Given the description of an element on the screen output the (x, y) to click on. 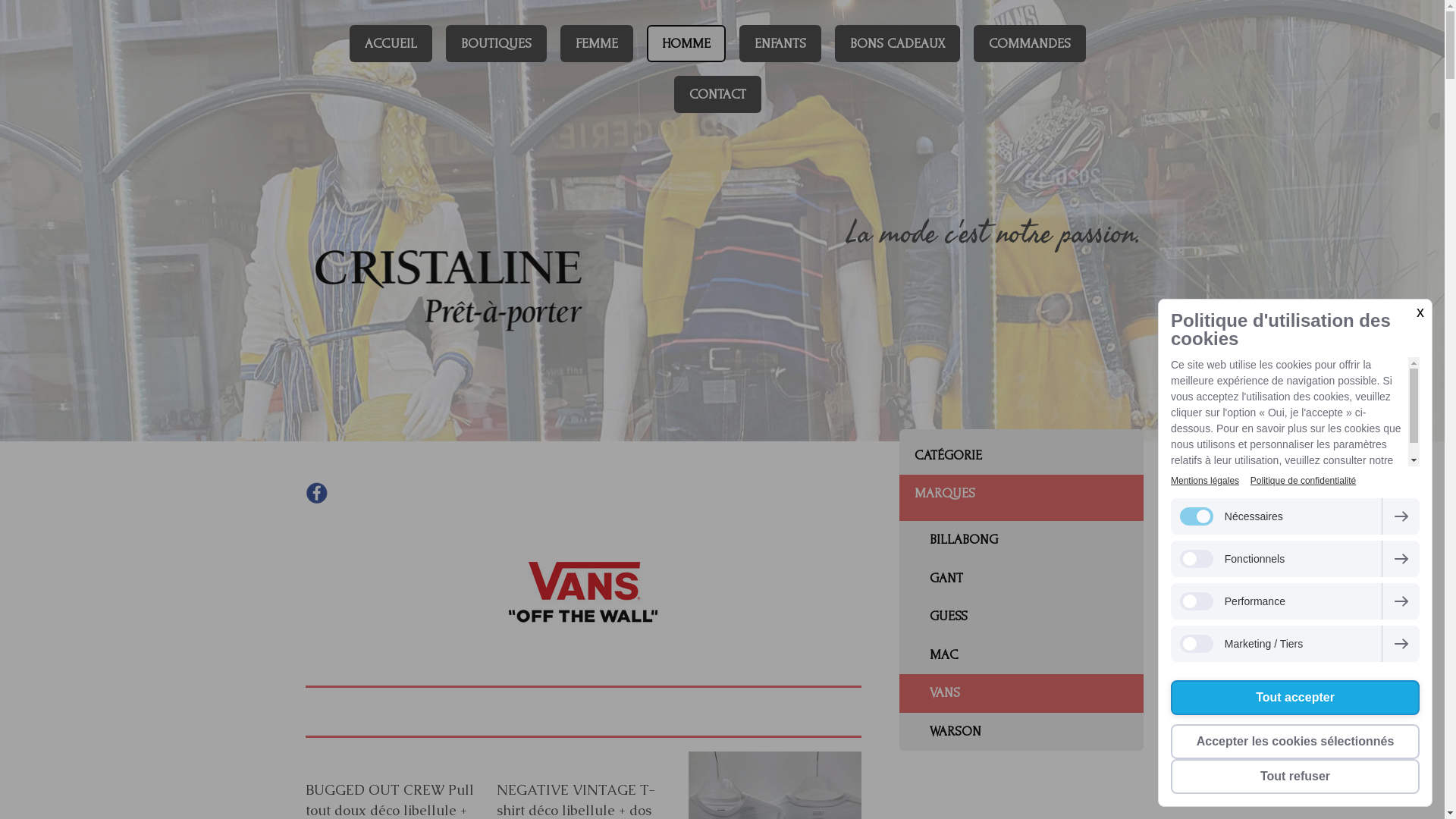
BONS CADEAUX Element type: text (896, 43)
Tout refuser Element type: text (1294, 776)
ENFANTS Element type: text (779, 43)
La mode c'est notre passion. Element type: text (890, 233)
WARSON Element type: text (1021, 731)
BILLABONG Element type: text (1021, 539)
GANT Element type: text (1021, 578)
MAC Element type: text (1021, 655)
Tout accepter Element type: text (1294, 697)
ACCUEIL Element type: text (389, 43)
HOMME Element type: text (685, 43)
CONTACT Element type: text (716, 93)
COMMANDES Element type: text (1029, 43)
BOUTIQUES Element type: text (495, 43)
VANS Element type: text (1021, 693)
MARQUES Element type: text (1021, 497)
GUESS Element type: text (1021, 616)
FEMME Element type: text (595, 43)
